Given the description of an element on the screen output the (x, y) to click on. 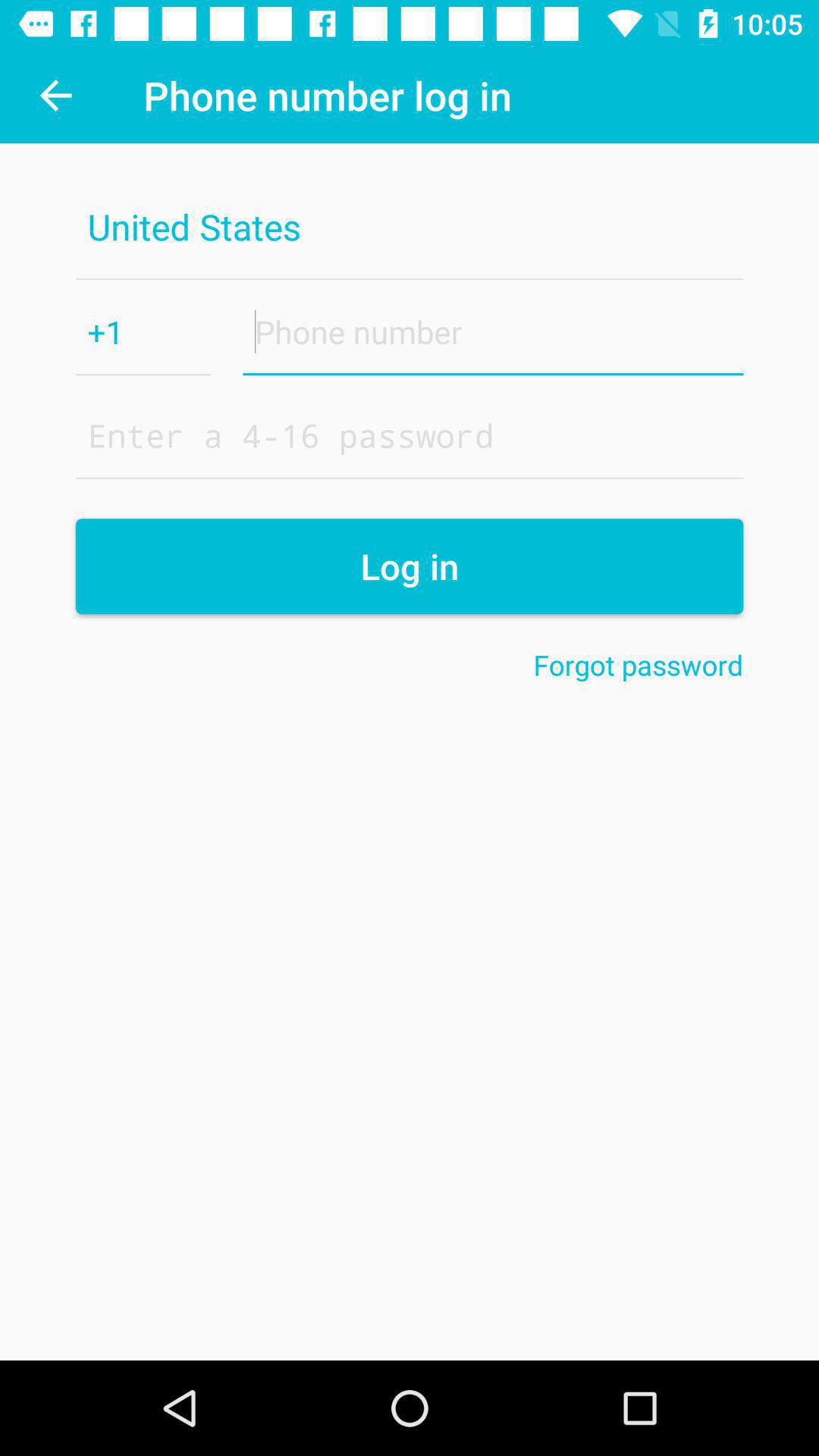
turn on the forgot password item (638, 664)
